Given the description of an element on the screen output the (x, y) to click on. 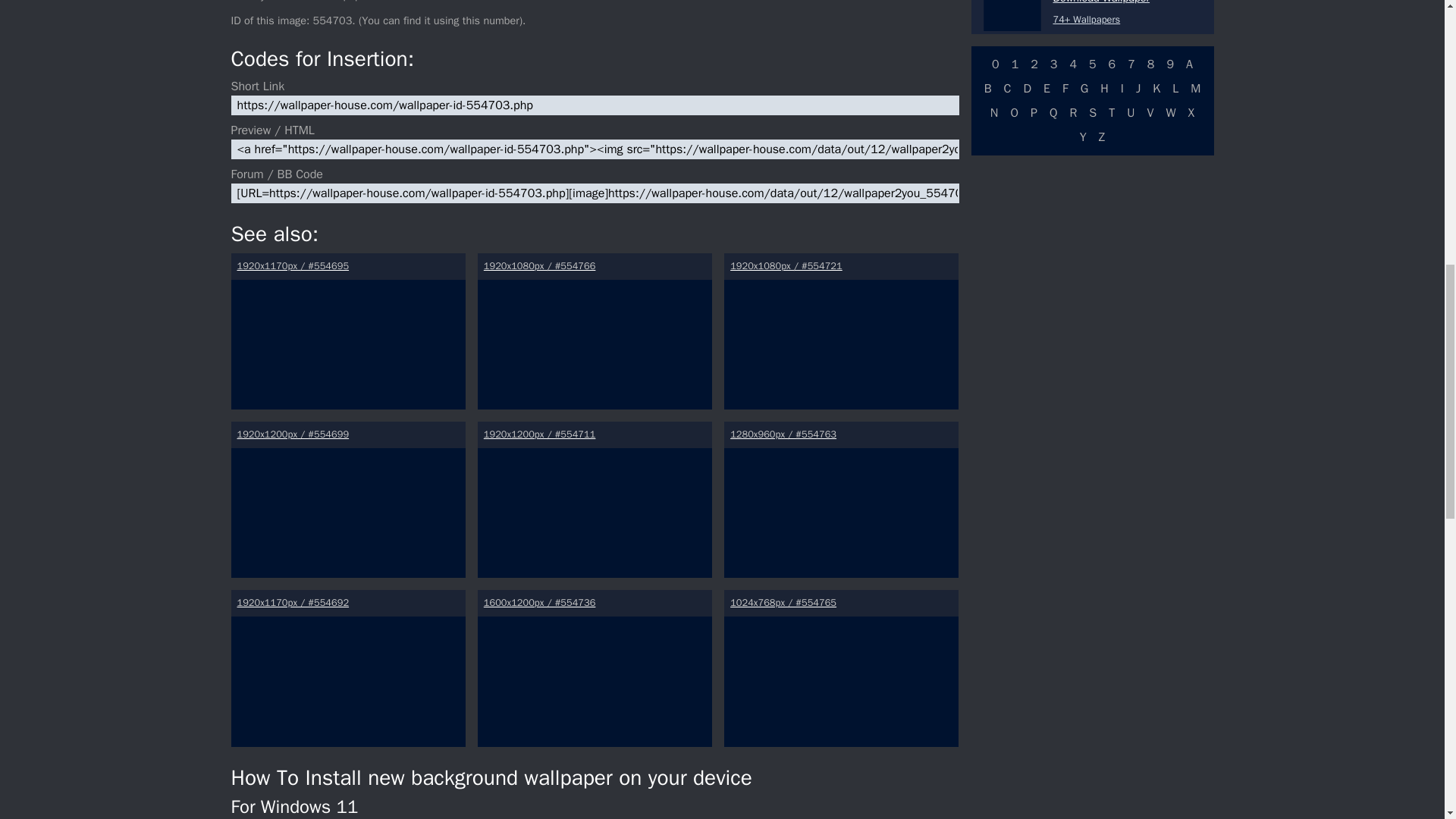
Taylor Swift hd wallpapers 1080p Only hd wallpapers (840, 667)
Taylor Swift Backgrounds (840, 331)
Gallery for - taylor swift wallpapers hd (840, 499)
Taylor Swift Hot RED Wallpaper - Best Download Latest HD (594, 331)
Taylor swift hd wallpaper download taylor swift images (347, 331)
Windows 7 Backgrounds Download (1011, 15)
Sexy Taylor Swift HD Backgrounds (347, 499)
Taylor Swift tw08 (347, 667)
Sexy Taylor Swift HD Backgrounds (594, 667)
